Given the description of an element on the screen output the (x, y) to click on. 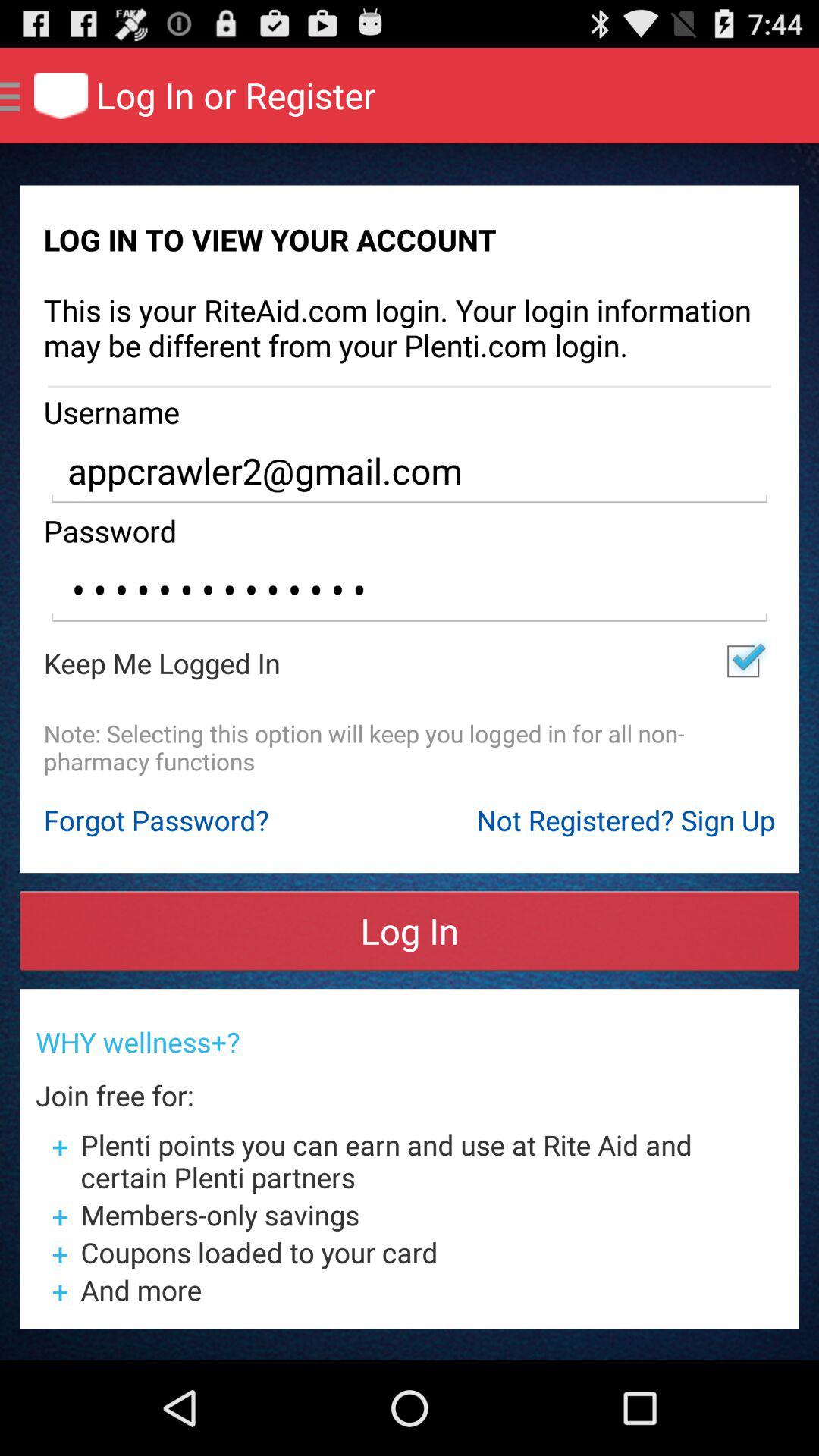
launch icon below the appcrawler3116 icon (743, 661)
